Given the description of an element on the screen output the (x, y) to click on. 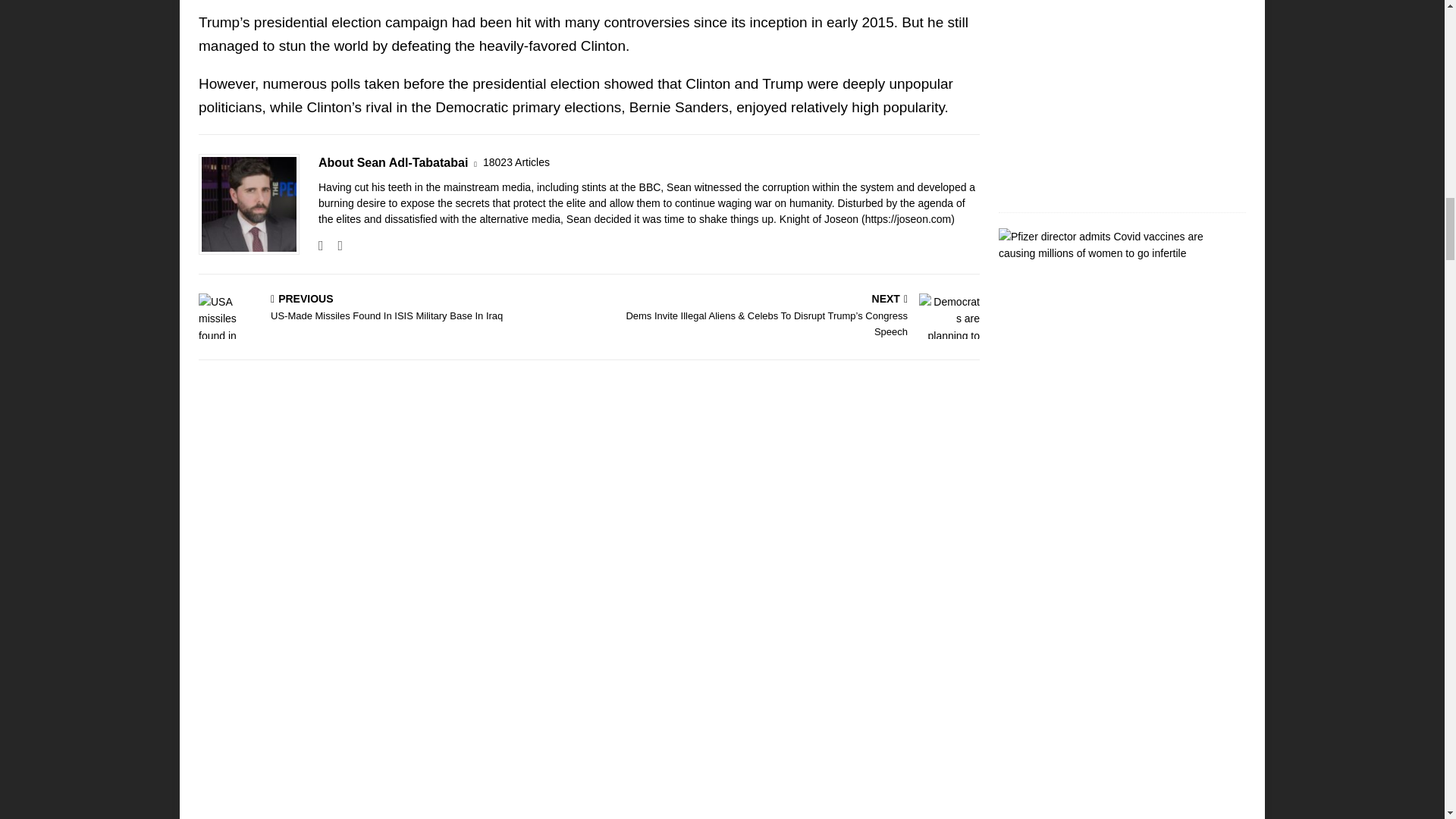
Follow Sean Adl-Tabatabai on Twitter (334, 245)
More articles written by Sean Adl-Tabatabai' (516, 162)
